Given the description of an element on the screen output the (x, y) to click on. 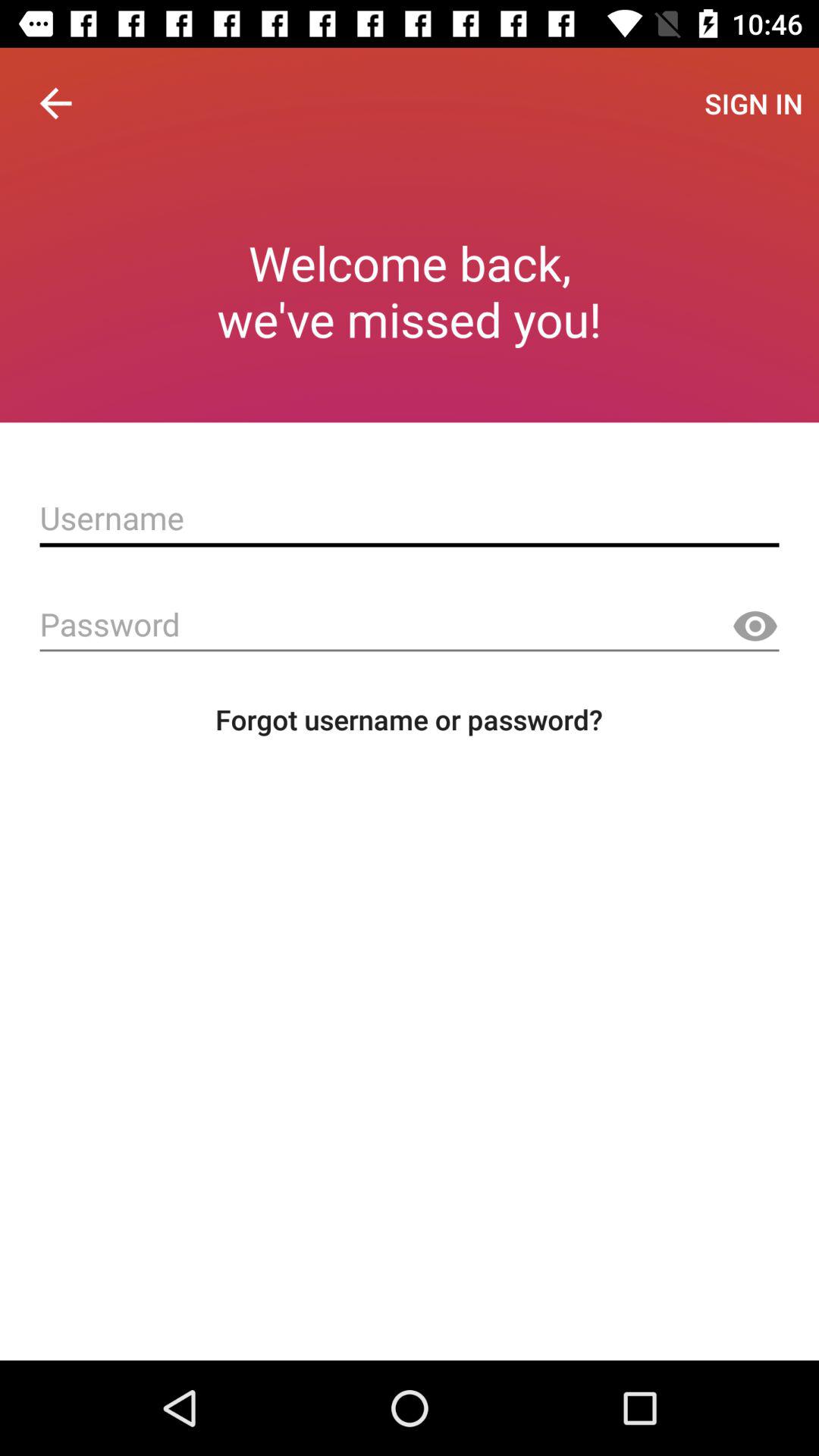
for vision (755, 626)
